Given the description of an element on the screen output the (x, y) to click on. 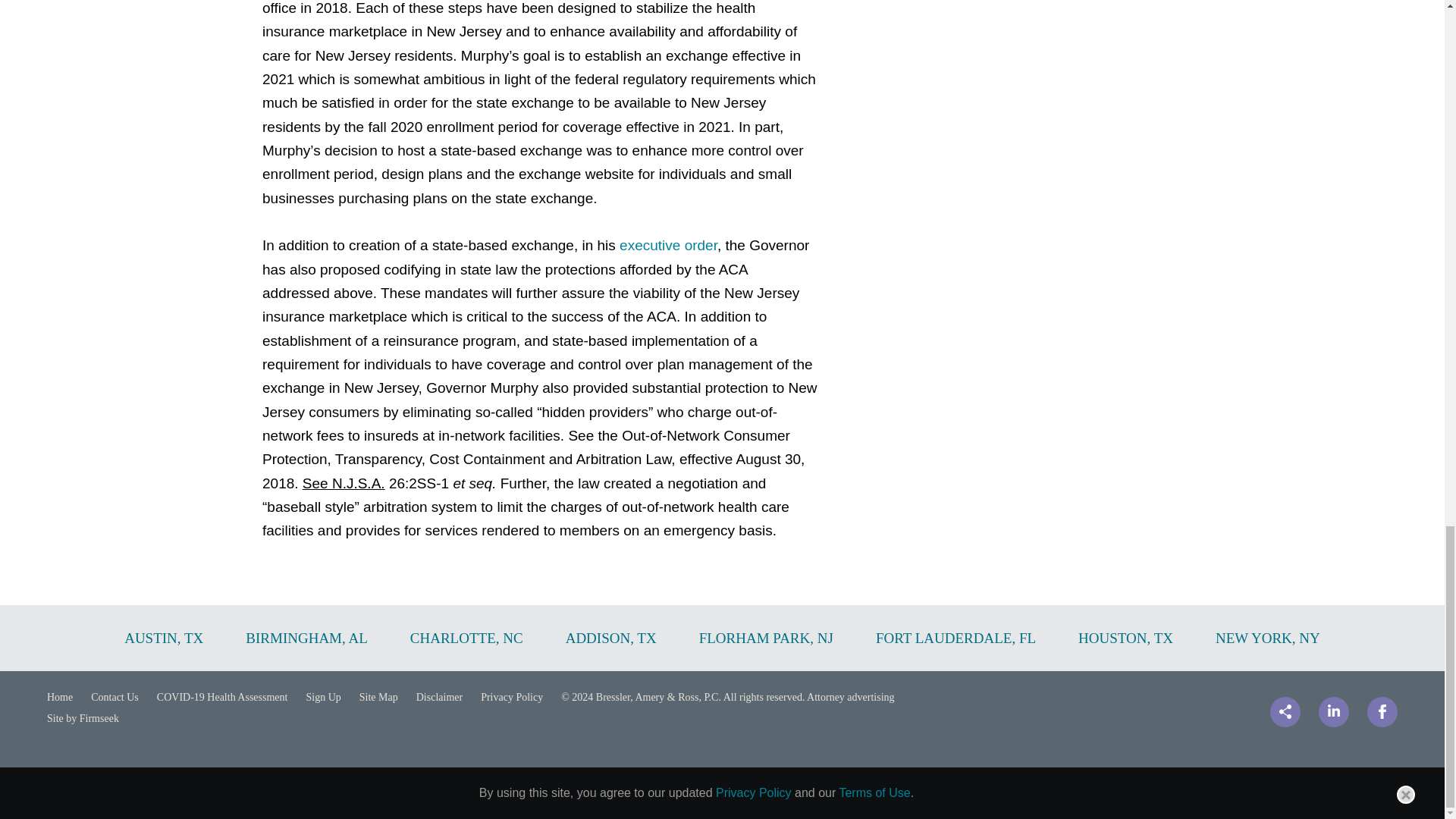
Share (1284, 711)
executive order (668, 245)
